Given the description of an element on the screen output the (x, y) to click on. 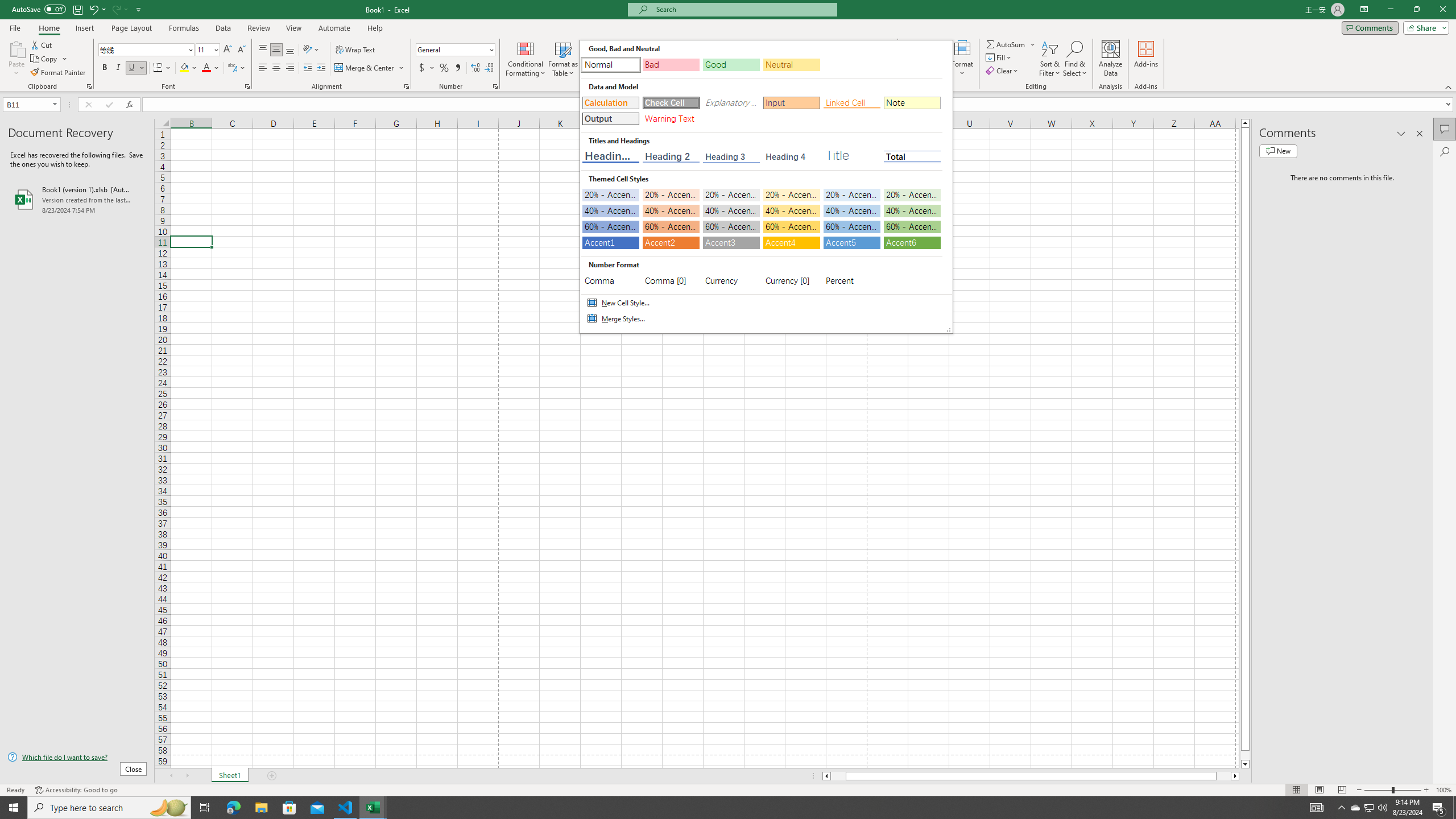
Fill Color (188, 67)
Show Phonetic Field (231, 67)
Format Painter (58, 72)
Increase Font Size (227, 49)
Office Clipboard... (88, 85)
Format Cell Number (494, 85)
Increase Decimal (474, 67)
Accounting Number Format (426, 67)
Decrease Font Size (240, 49)
